Given the description of an element on the screen output the (x, y) to click on. 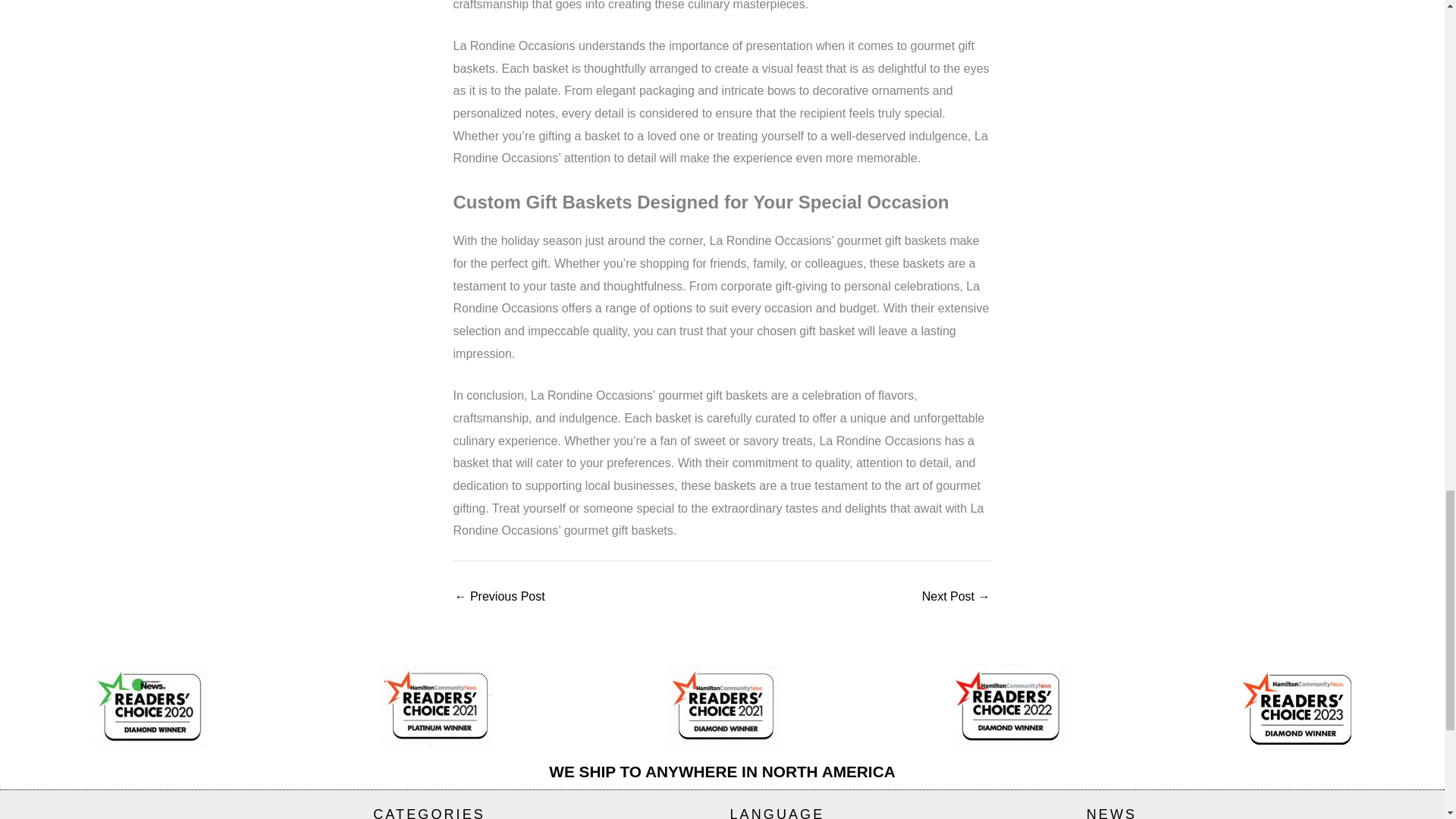
Personalized Gift Baskets Hamilton (499, 596)
Food Gift Baskets (955, 596)
